Given the description of an element on the screen output the (x, y) to click on. 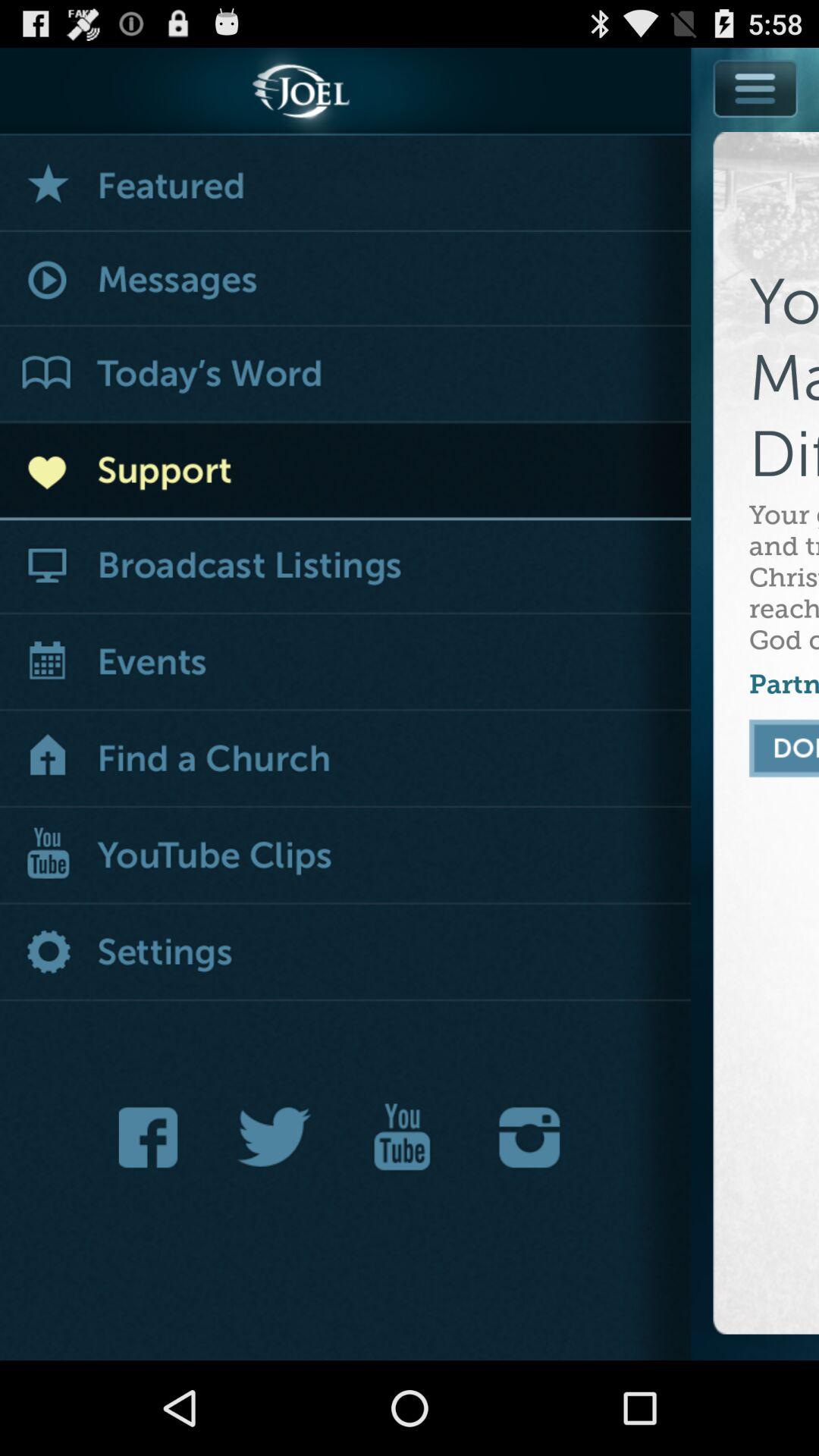
you tube aplicativo de videos (401, 1137)
